Given the description of an element on the screen output the (x, y) to click on. 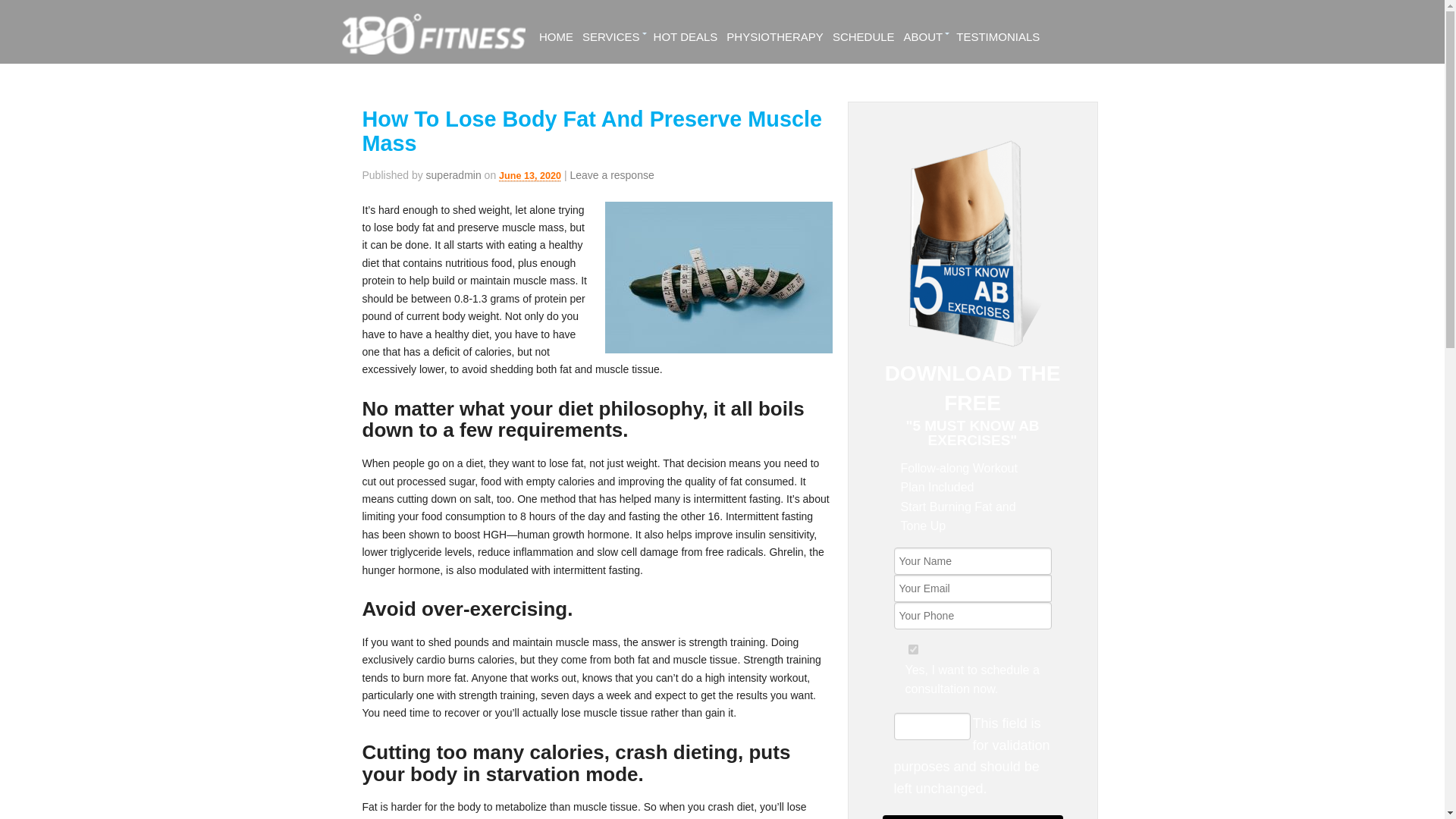
Yes, I want to schedule a consultation now. (913, 649)
Saturday, June 13th, 2020, 6:32 am (529, 175)
HOT DEALS (685, 37)
Instagram (1087, 8)
Leave a response (611, 174)
TESTIMONIALS (997, 37)
SCHEDULE (863, 37)
superadmin (453, 174)
Facebook (1038, 8)
Comment on How To Lose Body Fat And Preserve Muscle Mass (611, 174)
